Given the description of an element on the screen output the (x, y) to click on. 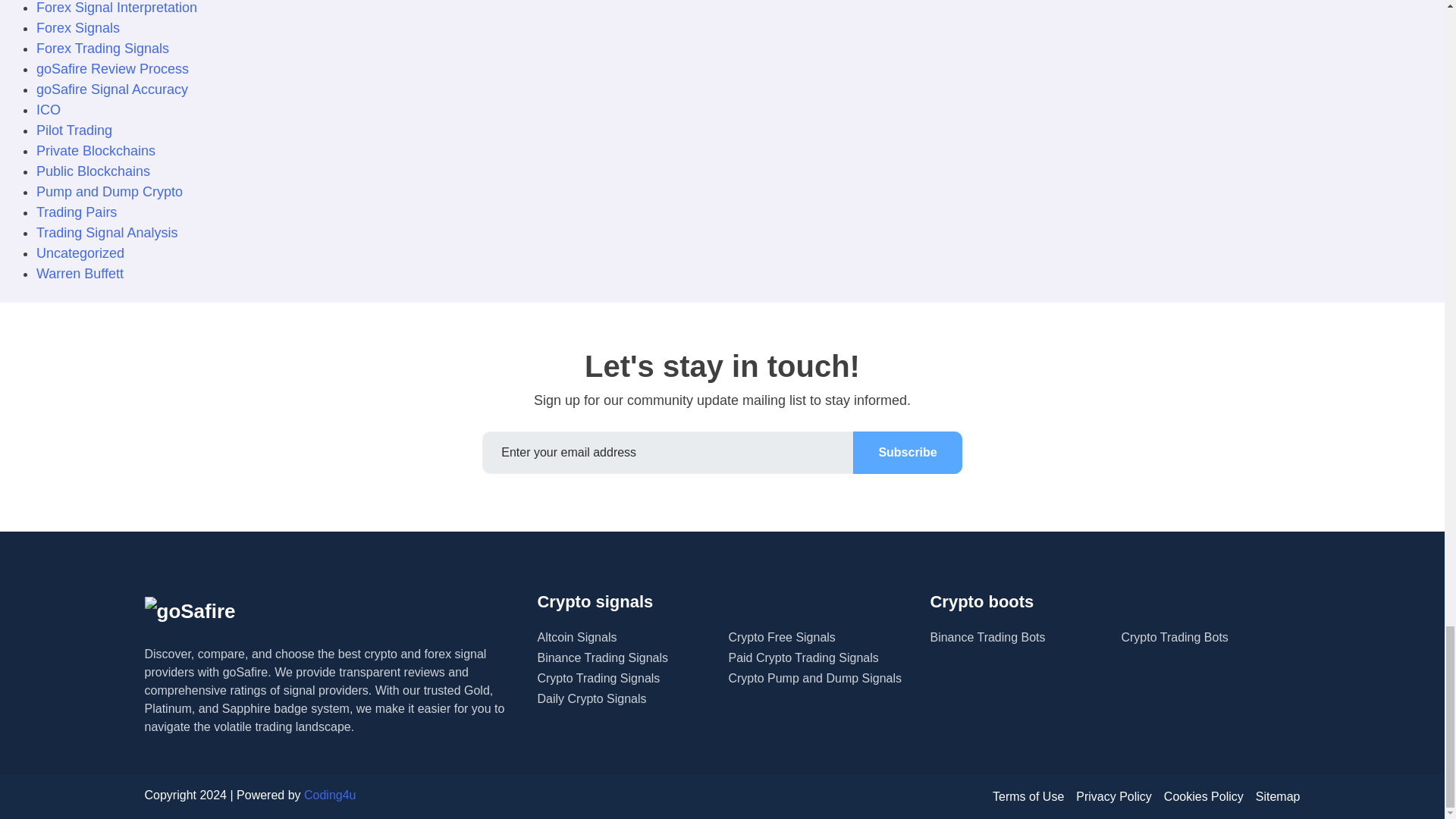
goSafire (189, 611)
